Given the description of an element on the screen output the (x, y) to click on. 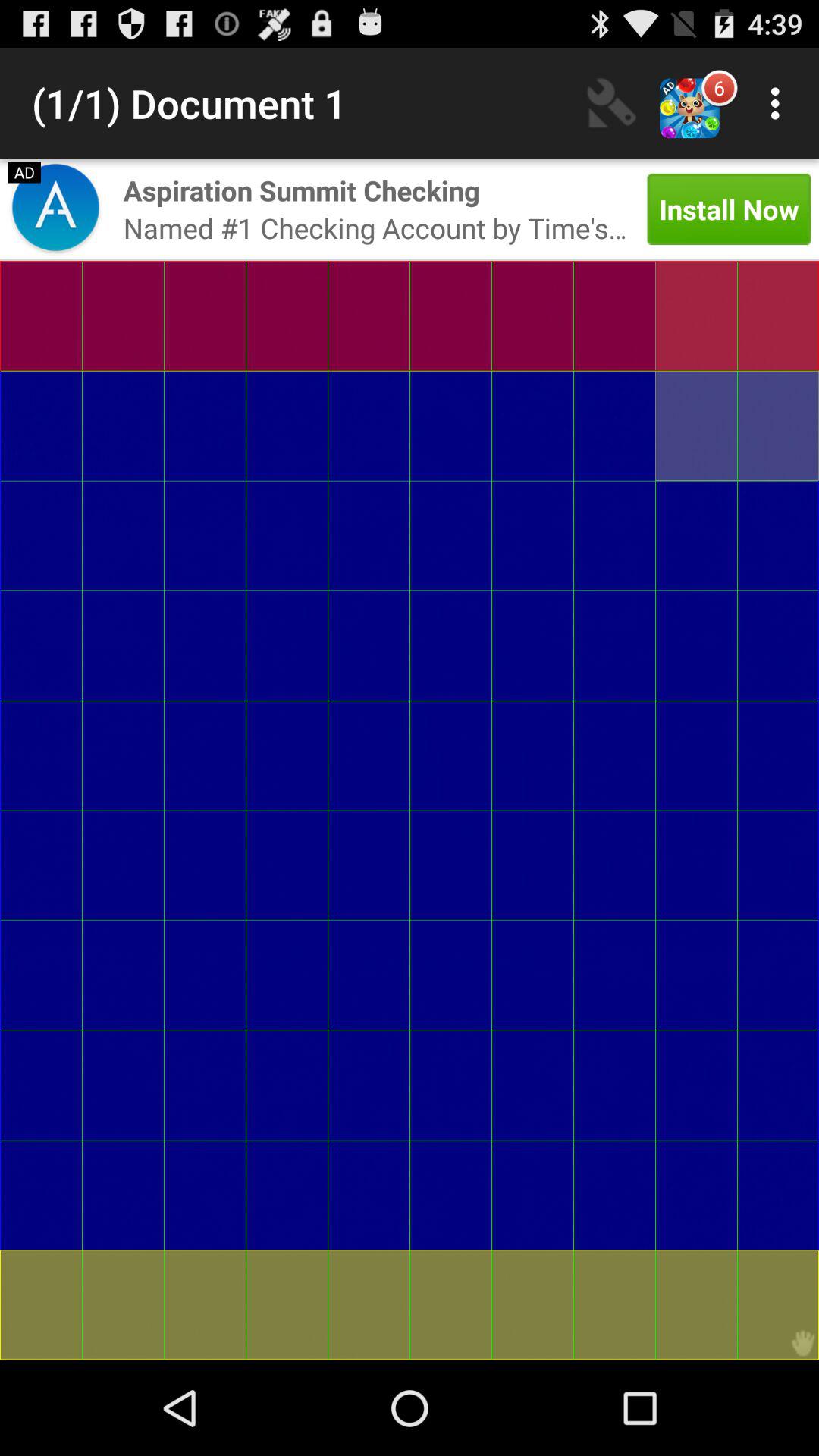
turn off aspiration summit checking (301, 190)
